Given the description of an element on the screen output the (x, y) to click on. 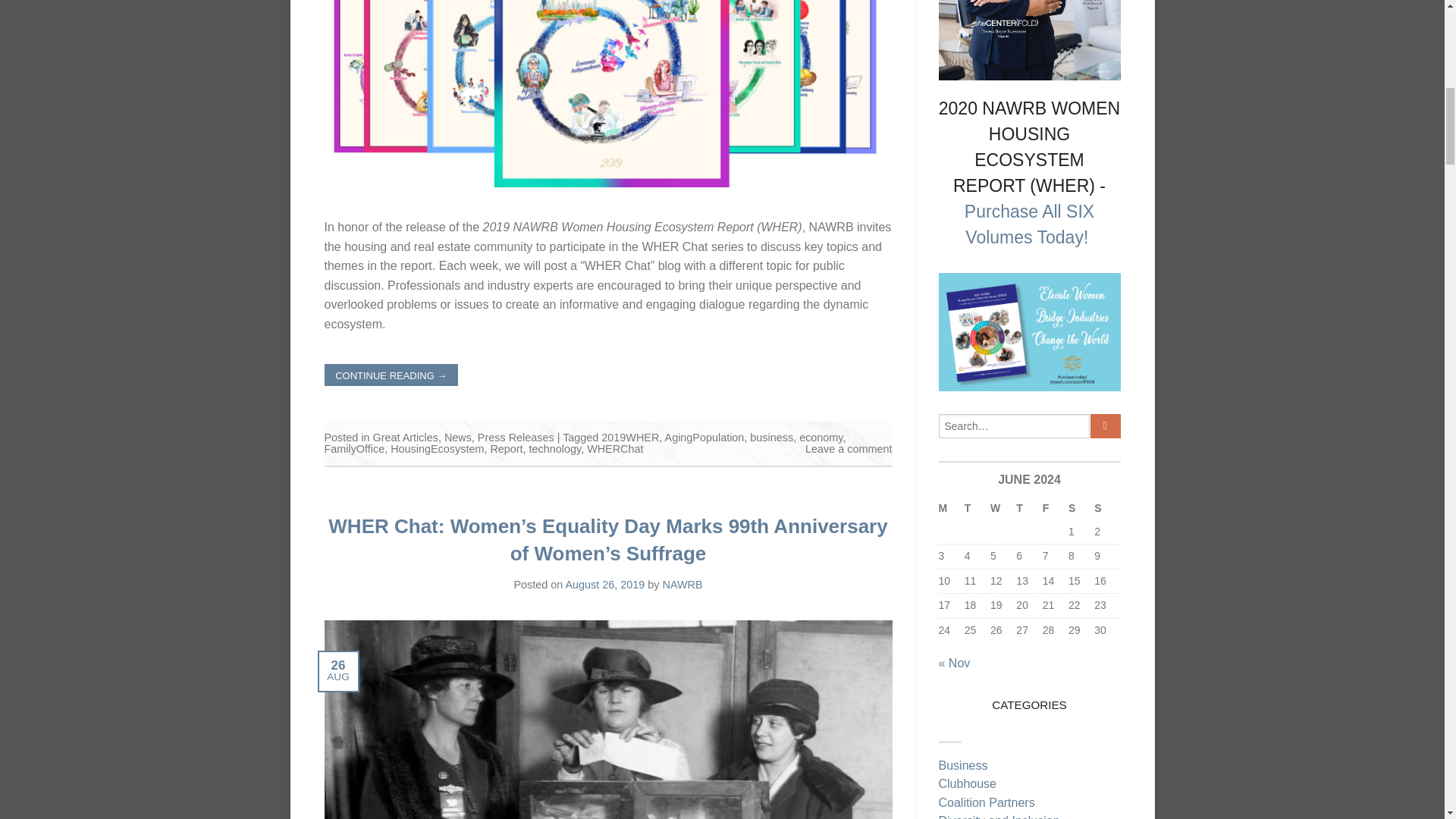
Sunday (1106, 508)
Monday (951, 508)
Thursday (1029, 508)
Saturday (1081, 508)
Friday (1055, 508)
Wednesday (1003, 508)
Tuesday (976, 508)
